Given the description of an element on the screen output the (x, y) to click on. 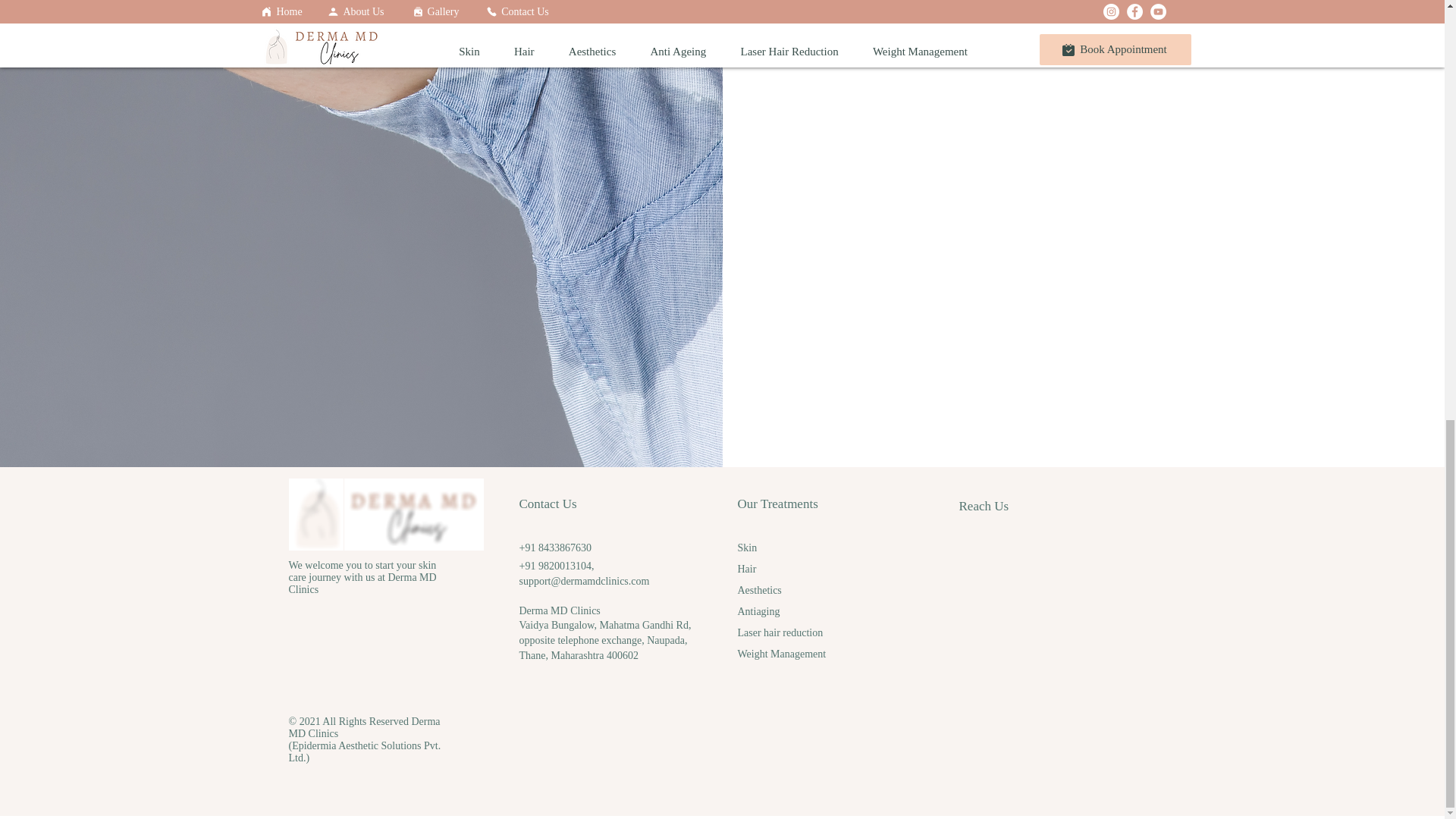
Google Maps (1057, 614)
